Given the description of an element on the screen output the (x, y) to click on. 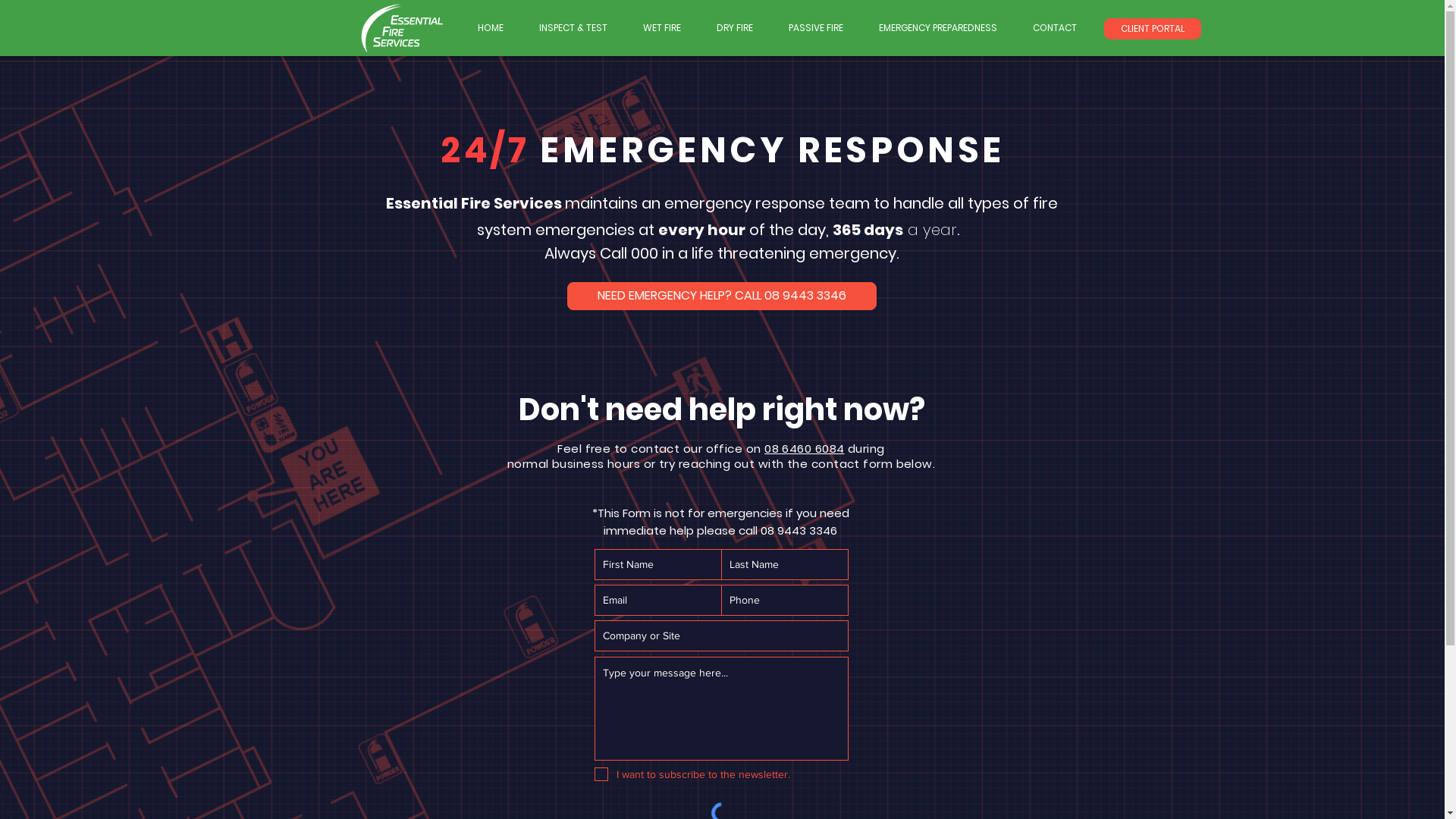
EMERGENCY PREPAREDNESS Element type: text (938, 27)
PASSIVE FIRE Element type: text (815, 27)
WET FIRE Element type: text (661, 27)
NEED EMERGENCY HELP? CALL 08 9443 3346 Element type: text (721, 296)
INSPECT & TEST Element type: text (573, 27)
CLIENT PORTAL Element type: text (1152, 28)
HOME Element type: text (489, 27)
CONTACT Element type: text (1054, 27)
DRY FIRE Element type: text (735, 27)
08 6460 6084 Element type: text (804, 448)
